Given the description of an element on the screen output the (x, y) to click on. 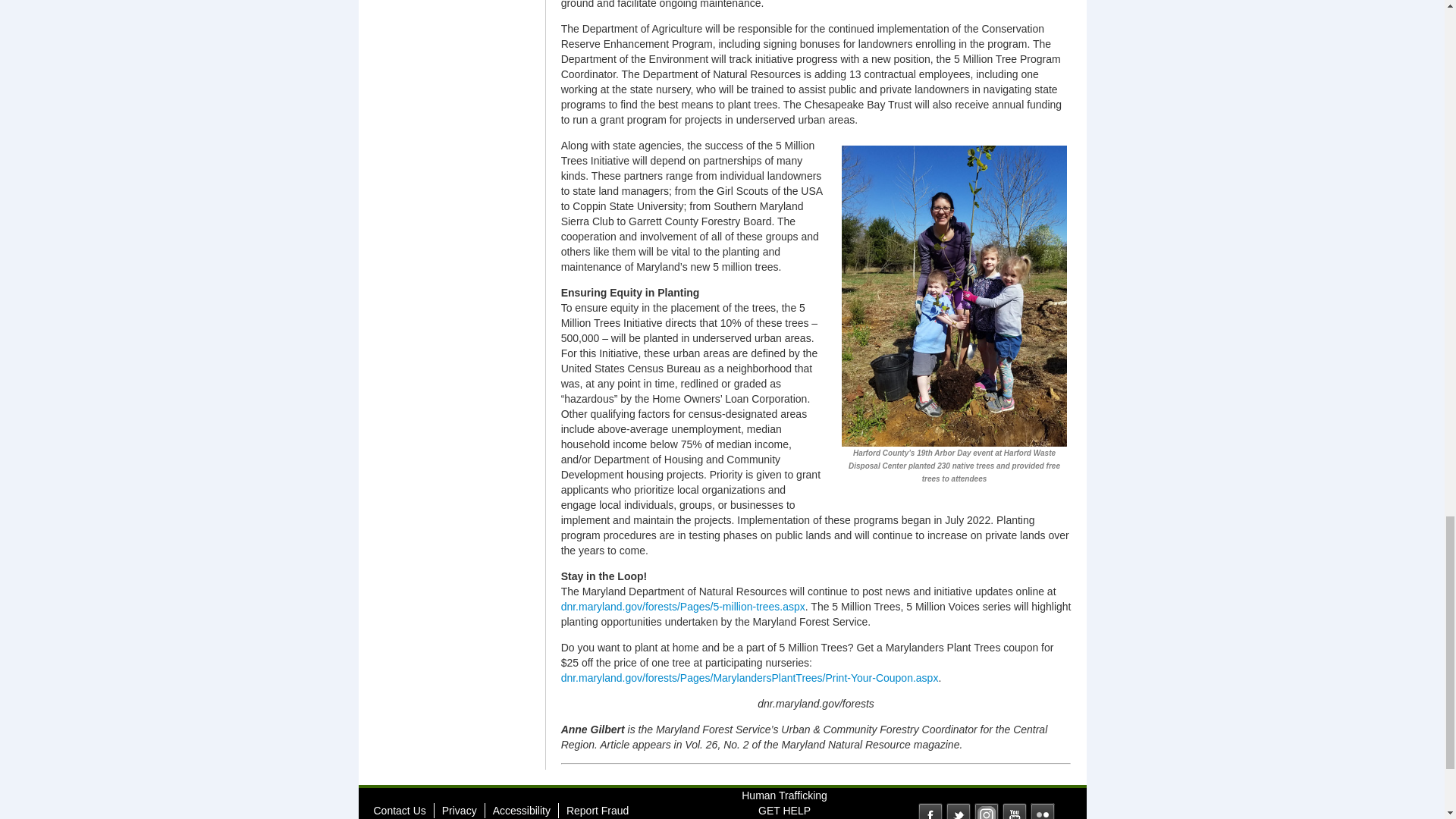
Flickr (1042, 811)
Facebook (930, 811)
Twitter (958, 811)
YouTube (1014, 811)
Instagram (986, 811)
5 Million Trees Planting (954, 295)
